Given the description of an element on the screen output the (x, y) to click on. 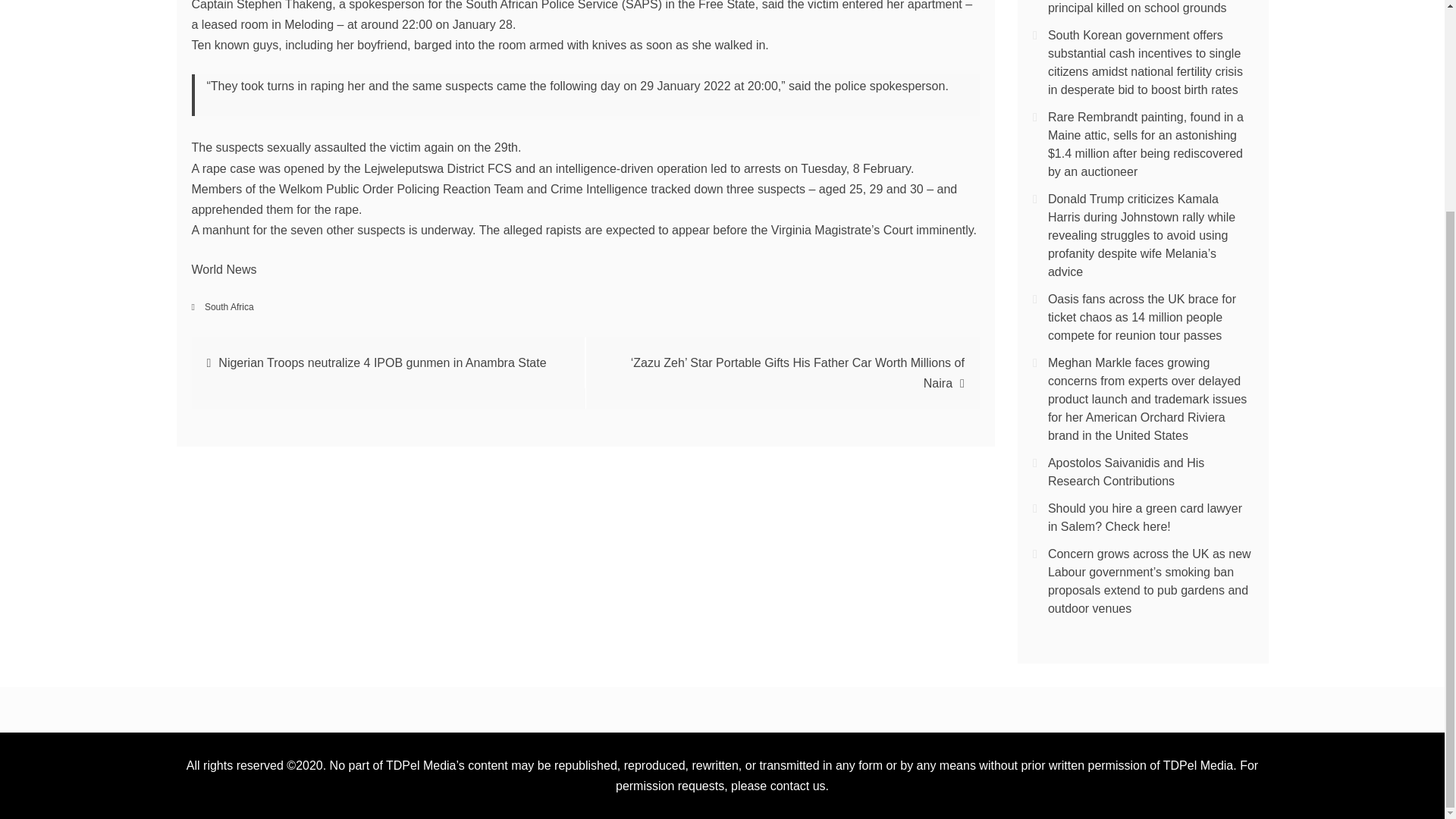
Nigerian Troops neutralize 4 IPOB gunmen in Anambra State (382, 362)
South Africa (229, 307)
